Given the description of an element on the screen output the (x, y) to click on. 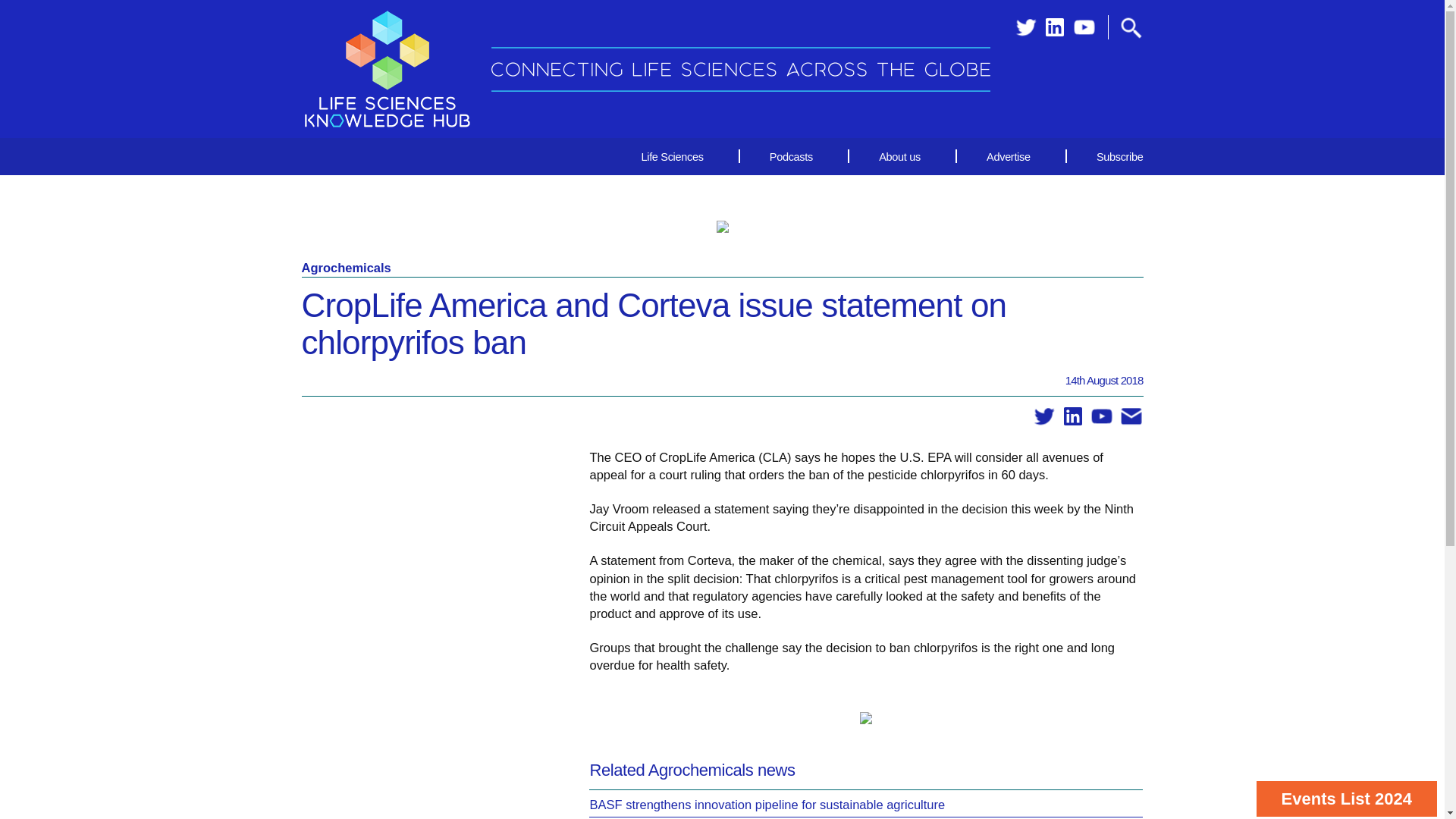
twitter (1025, 27)
youtube (1101, 416)
Advertise (1008, 156)
youtube (1083, 27)
Subscribe (1106, 156)
twitter (1044, 416)
Linkedin (1054, 27)
linkedin (1072, 416)
Life Sciences (672, 156)
